Given the description of an element on the screen output the (x, y) to click on. 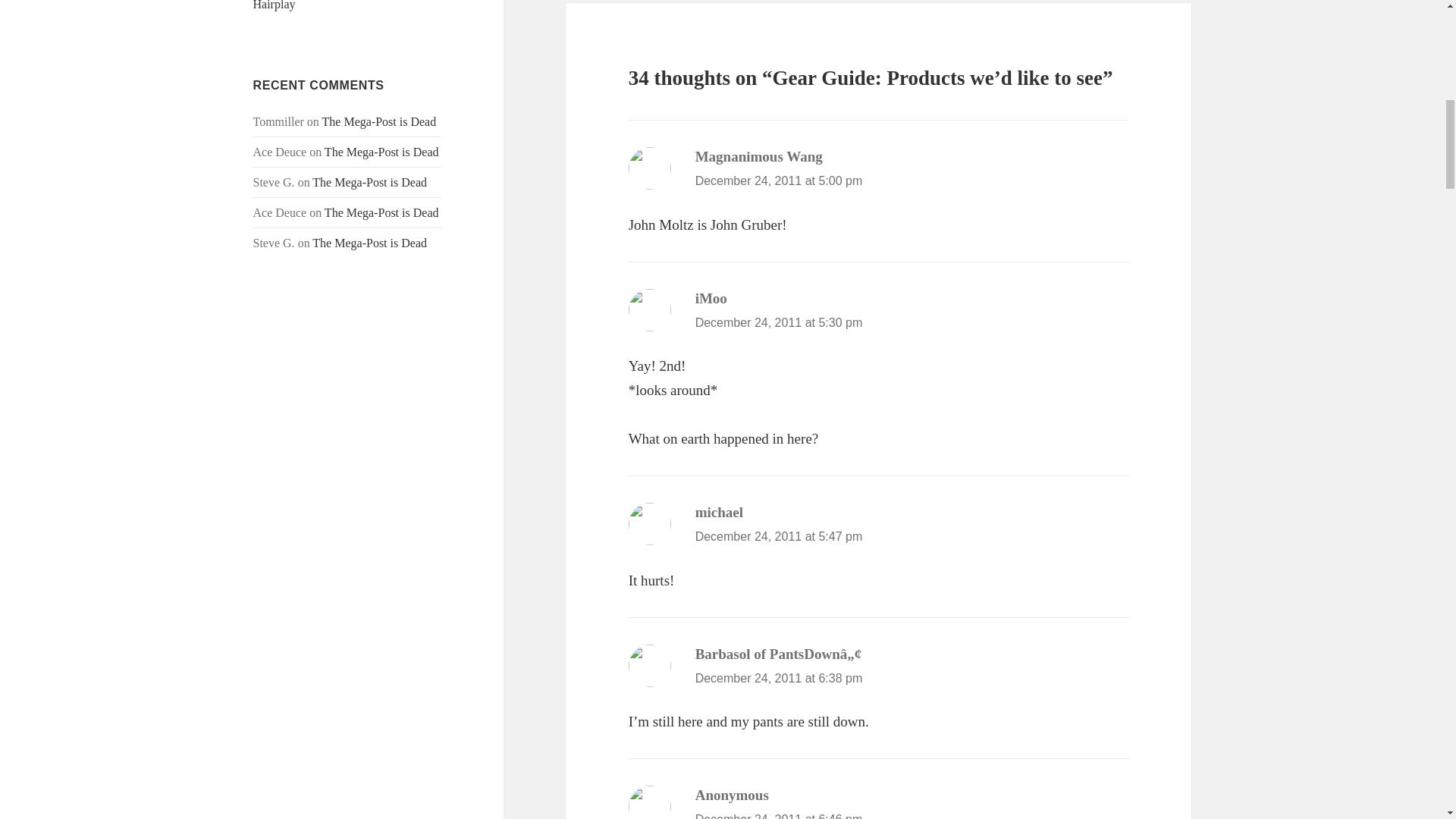
December 24, 2011 at 5:47 pm (779, 535)
The Mega-Post is Dead (369, 182)
December 24, 2011 at 6:38 pm (779, 677)
The Mega-Post is Dead (369, 242)
The Mega-Post is Dead (378, 121)
December 24, 2011 at 5:30 pm (779, 322)
The Mega-Post is Dead (381, 151)
Hairplay (274, 5)
December 24, 2011 at 5:00 pm (779, 180)
The Mega-Post is Dead (381, 212)
December 24, 2011 at 6:46 pm (779, 816)
